Given the description of an element on the screen output the (x, y) to click on. 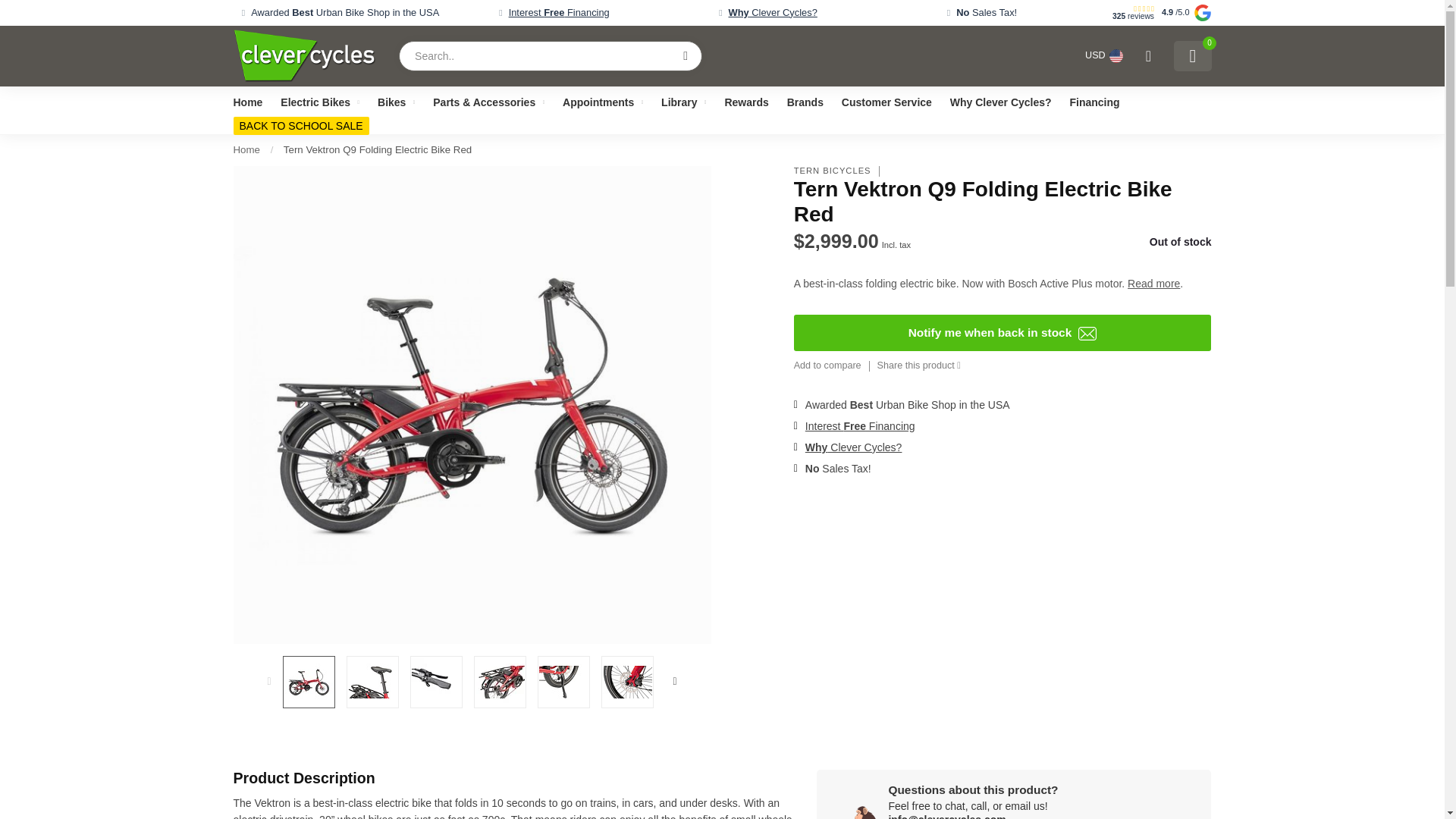
Home (246, 149)
Electric Bikes (320, 101)
Why Clever Cycles? (772, 12)
Interest Free Financing (558, 12)
Bikes (395, 101)
Home (247, 101)
0 (1192, 55)
1 (1060, 244)
